Given the description of an element on the screen output the (x, y) to click on. 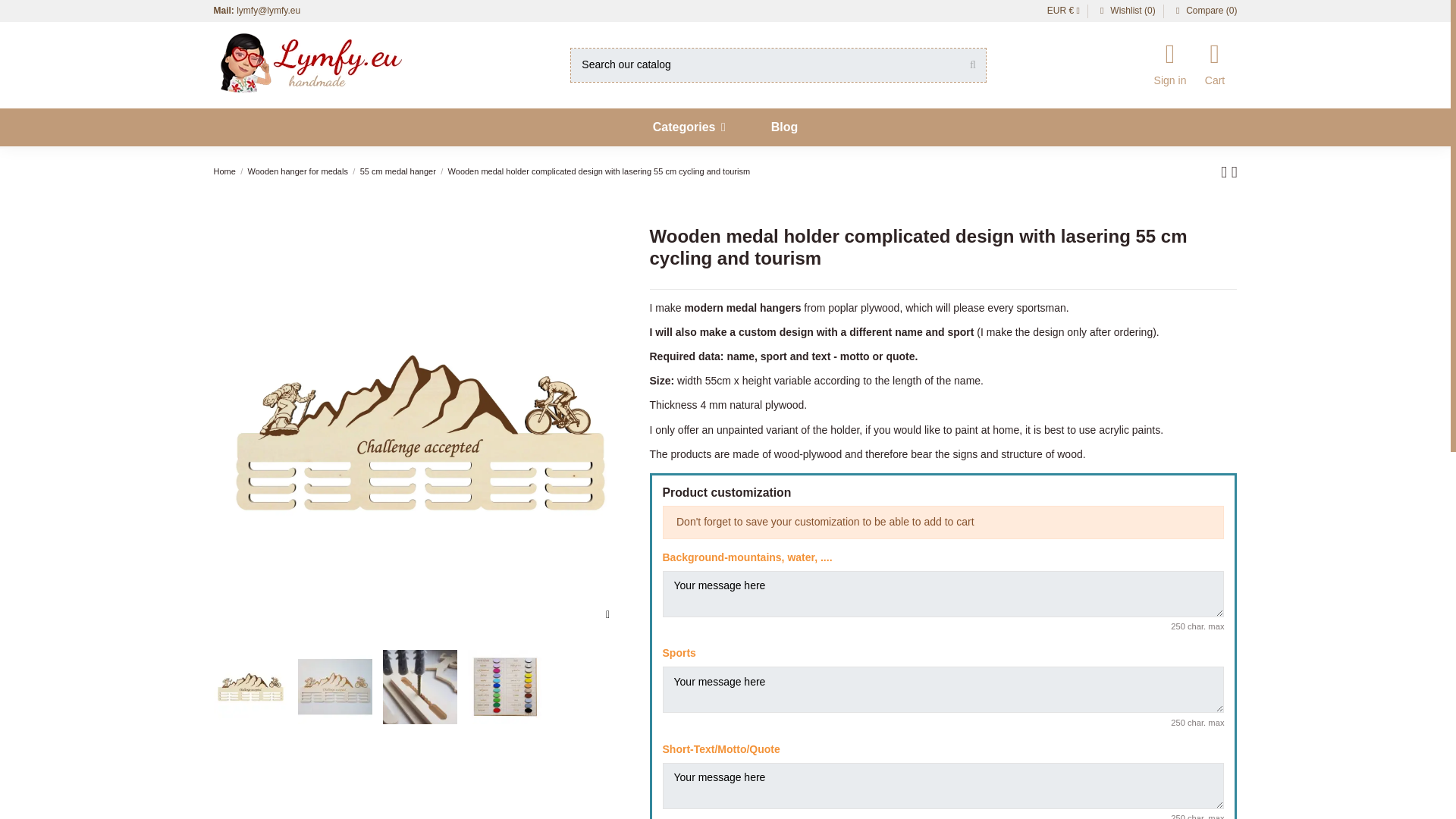
Categories (689, 127)
Blog (784, 127)
